Given the description of an element on the screen output the (x, y) to click on. 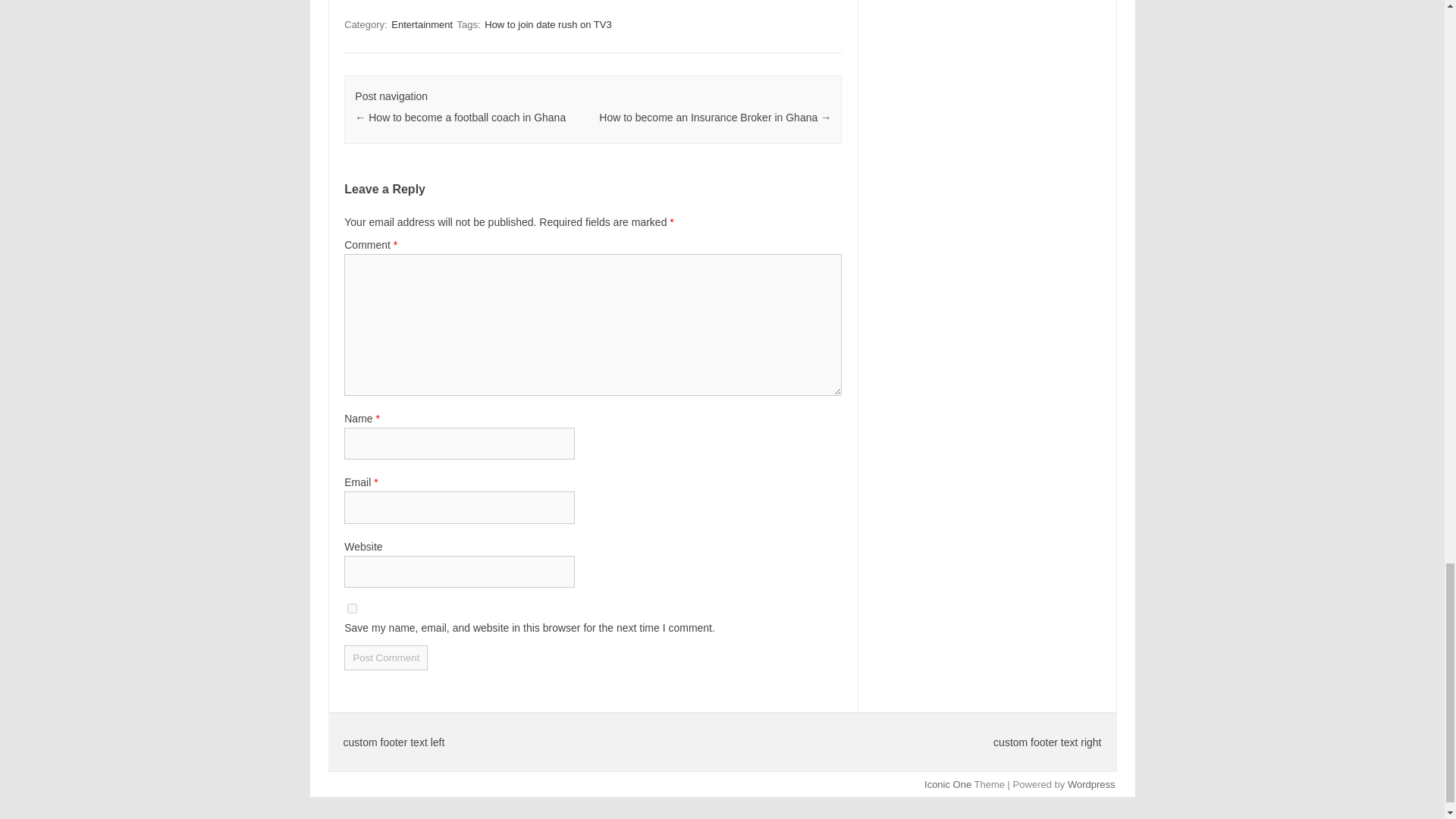
Entertainment (422, 24)
Post Comment (385, 657)
How to join date rush on TV3 (547, 24)
Post Comment (385, 657)
yes (351, 608)
